Given the description of an element on the screen output the (x, y) to click on. 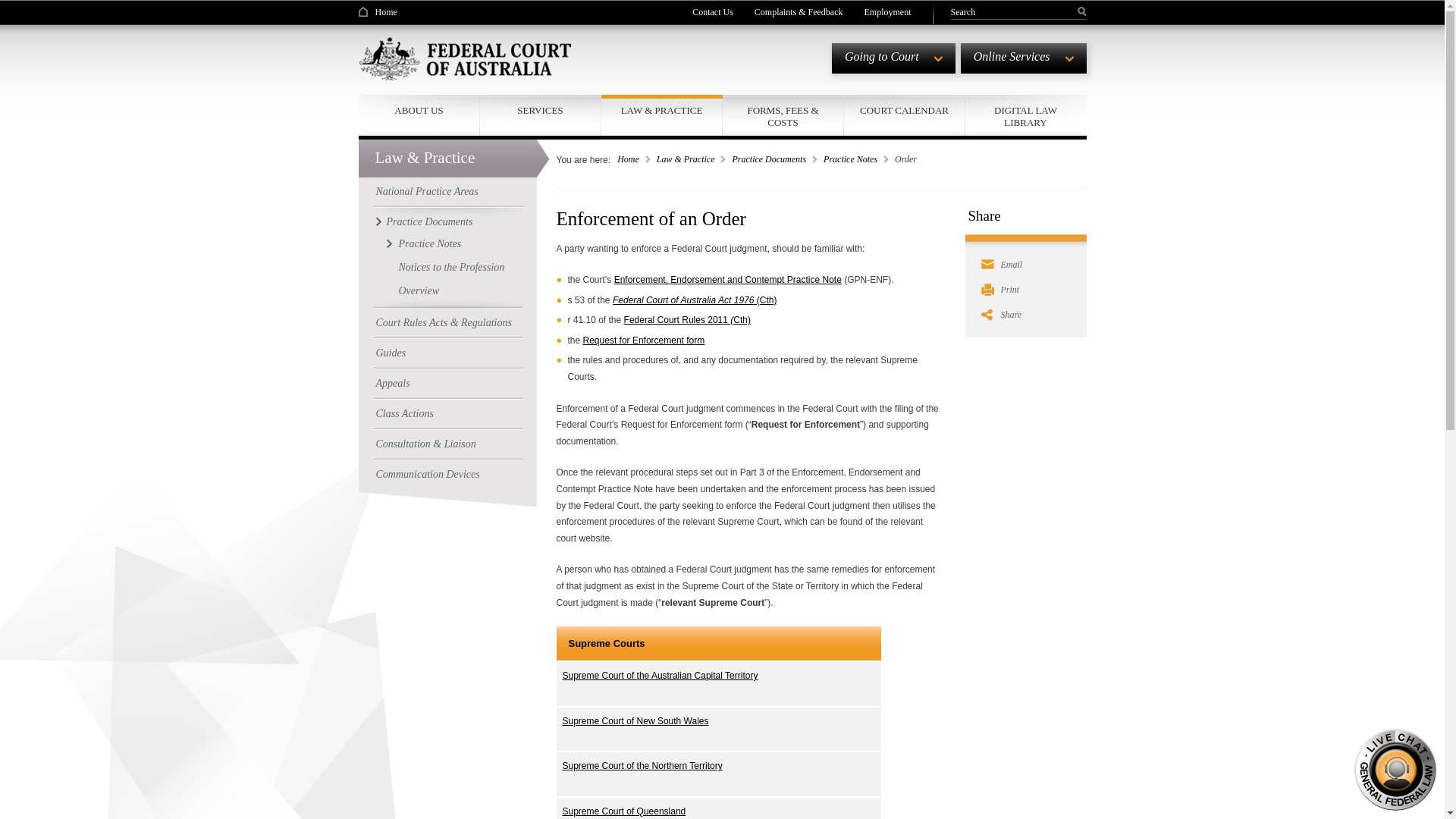
Contact Us (713, 11)
Employment (887, 11)
Going to Court (893, 58)
Search (1013, 11)
Home (377, 11)
Online Services (1023, 58)
